Given the description of an element on the screen output the (x, y) to click on. 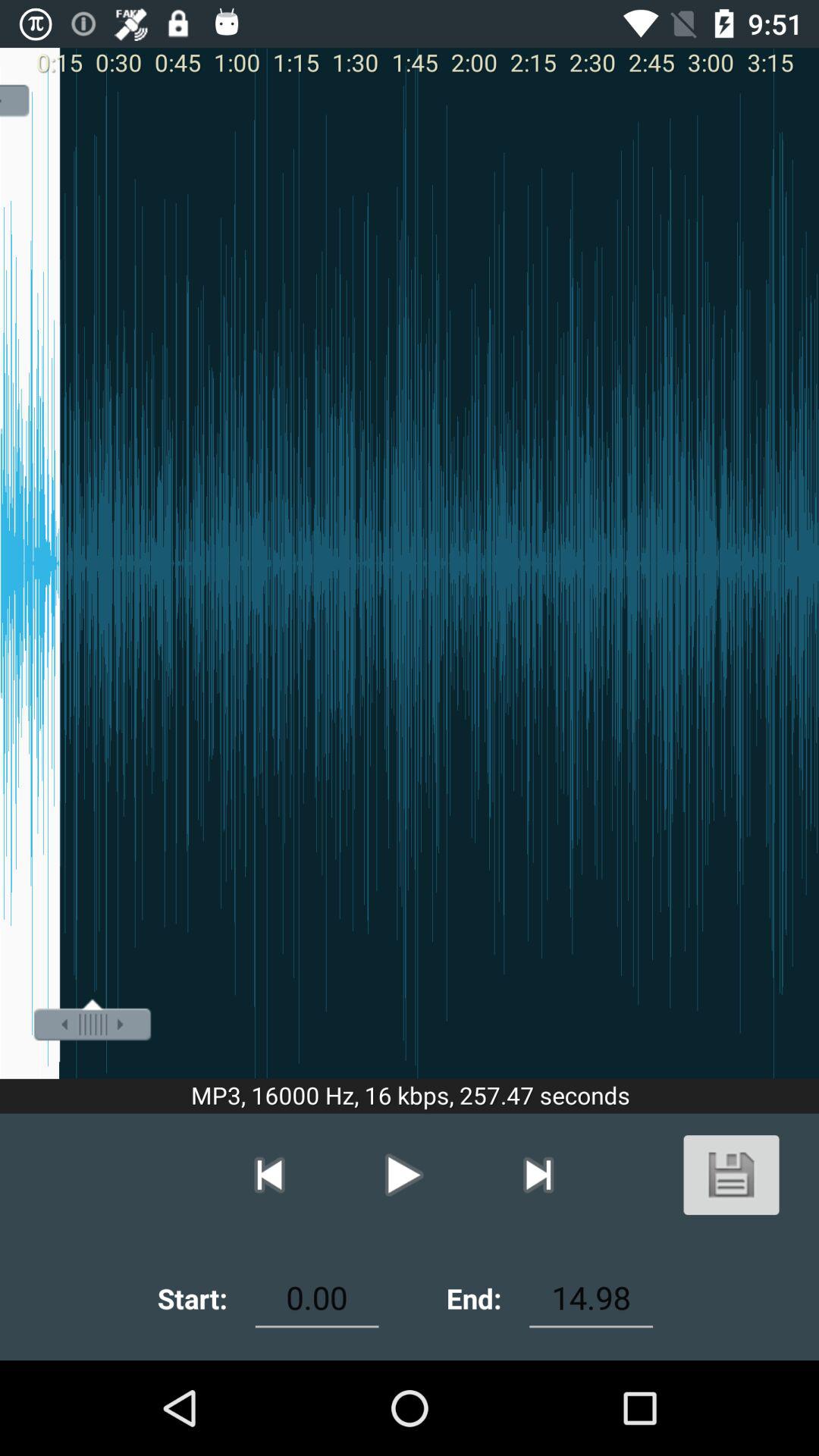
click on the play button (404, 1174)
click the save icon from the bottom (731, 1174)
click on the adjustment tool (92, 1023)
select the text which is left side of 000 (192, 1298)
click on the text field of start at bottom (316, 1298)
select the text field which is next to the end (590, 1298)
click on the button on left of play button (538, 1174)
click on the button right to the play button (538, 1174)
click on previous button which is above start (269, 1174)
click on the save icon at the bottom right of the page (731, 1174)
click on play button which is at bottom of the page (404, 1174)
click on the timer text box which is right side of the text start (316, 1298)
